Given the description of an element on the screen output the (x, y) to click on. 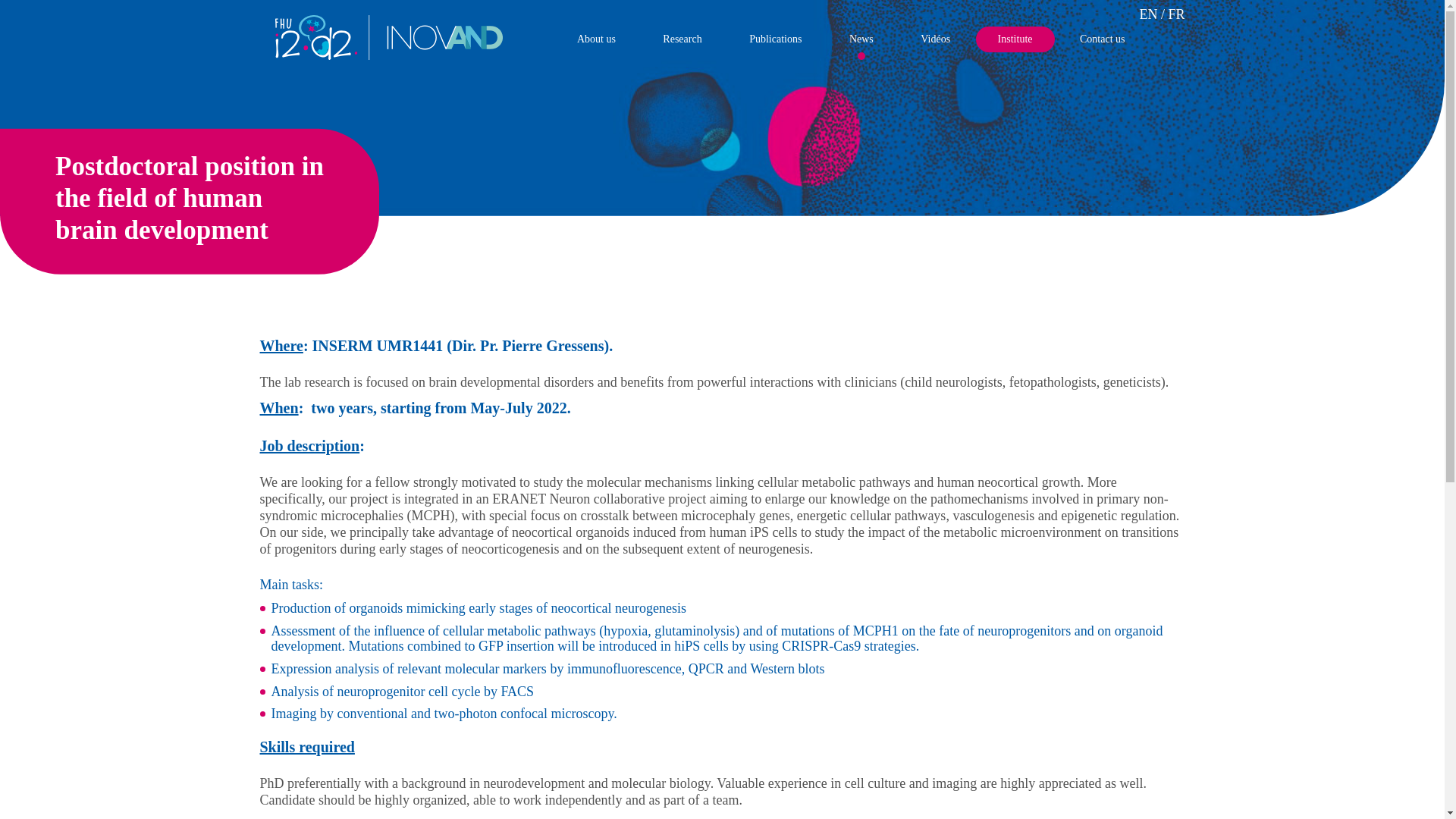
EN (1147, 14)
Institute (1014, 39)
Research (681, 39)
Publications (775, 39)
About us (595, 39)
FR (1176, 14)
I2.D2 (388, 55)
News (861, 39)
Contact us (1102, 39)
